Given the description of an element on the screen output the (x, y) to click on. 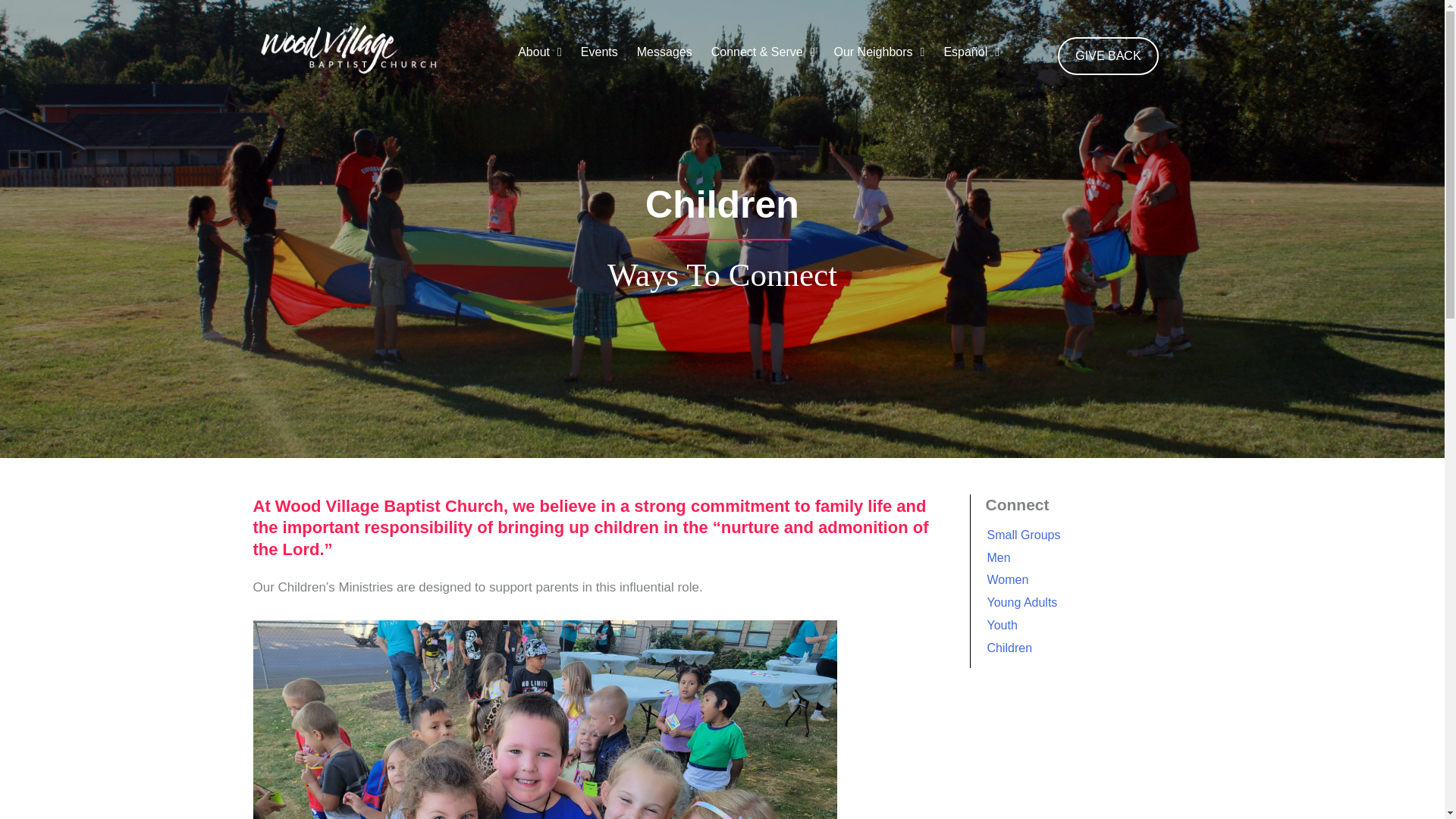
Our Neighbors (876, 55)
Events (597, 55)
Messages (661, 55)
D3S15 (545, 719)
About (538, 55)
